Given the description of an element on the screen output the (x, y) to click on. 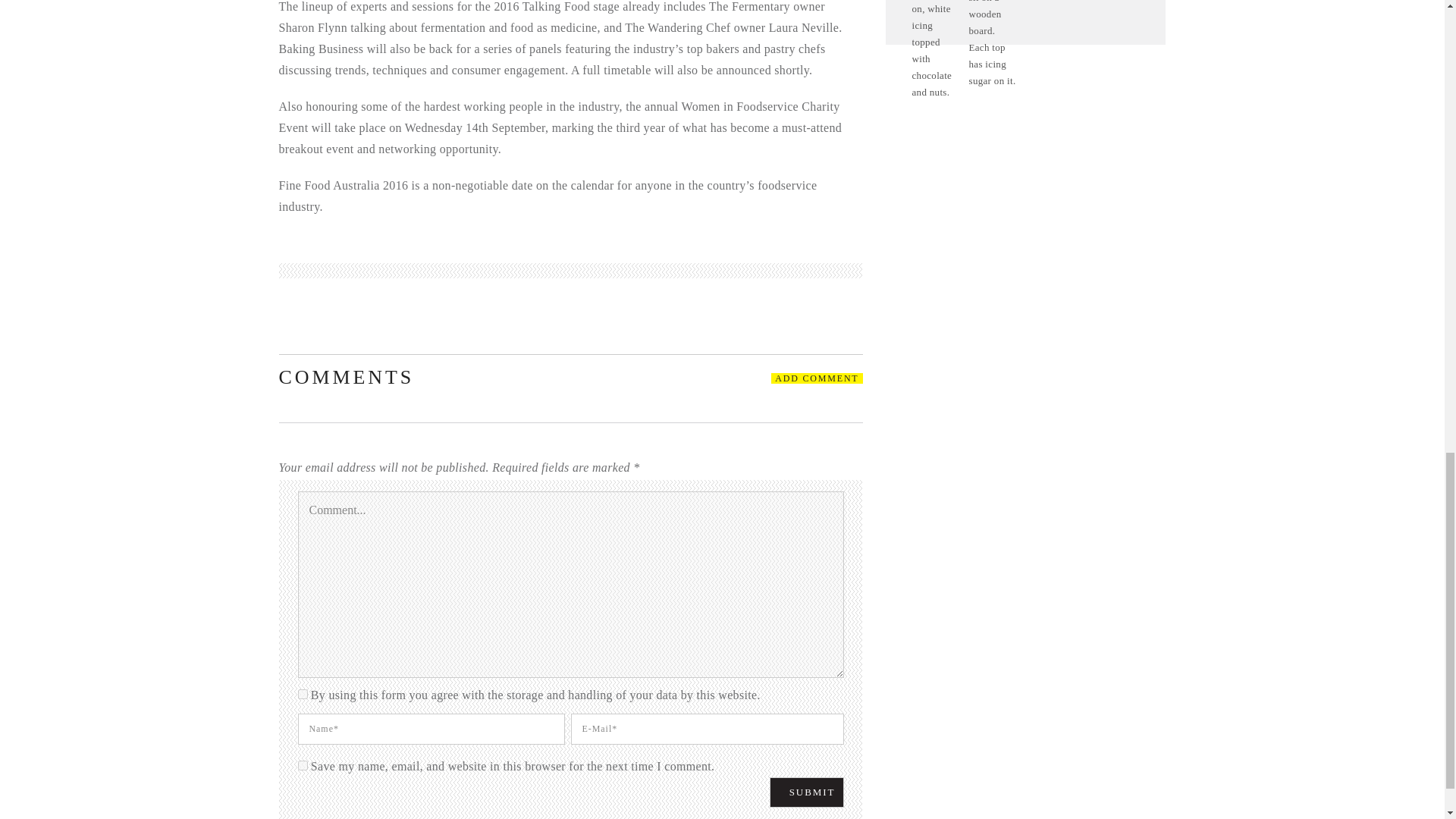
Submit (807, 792)
yes (302, 765)
privacy-key (302, 694)
